Given the description of an element on the screen output the (x, y) to click on. 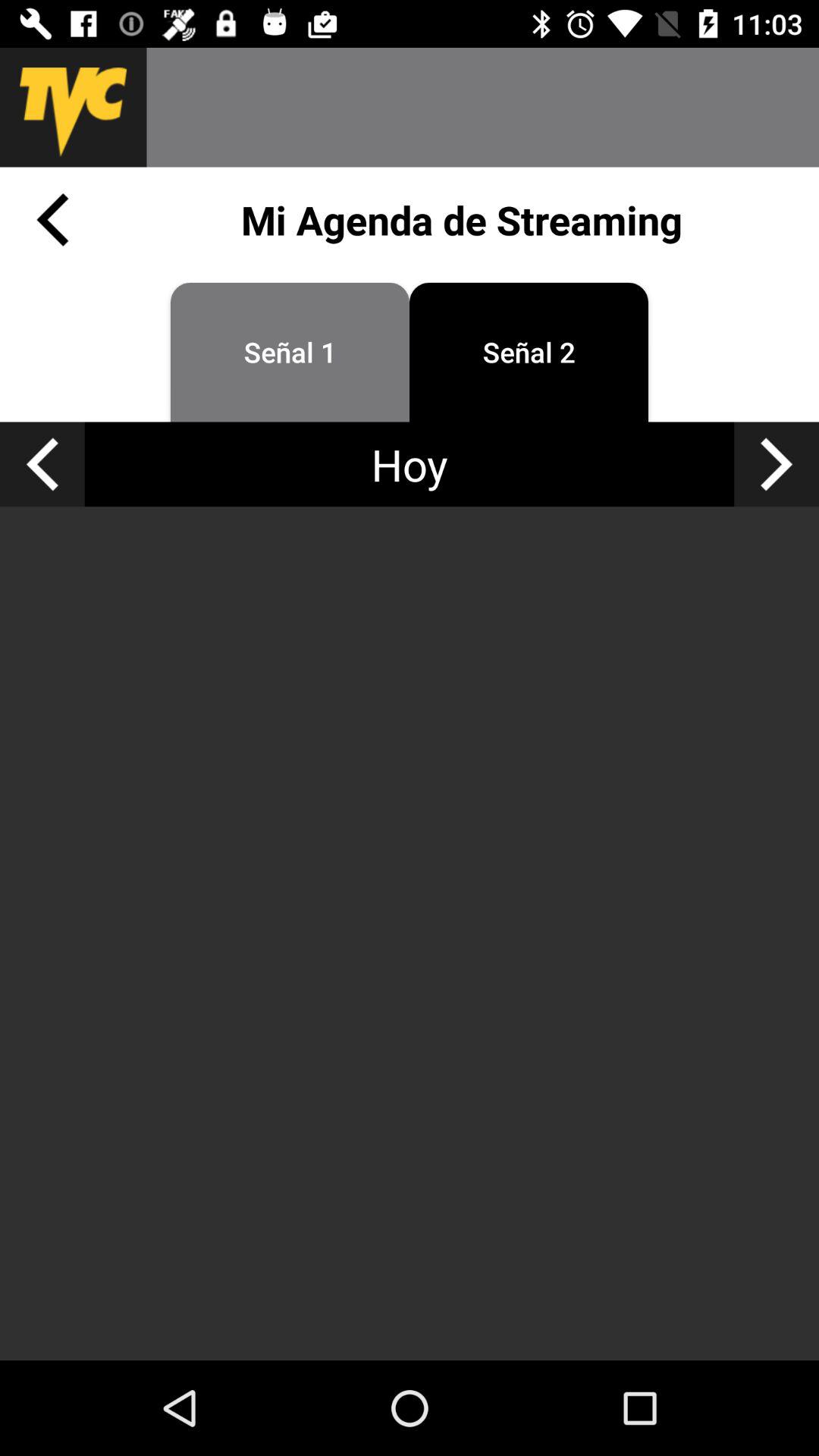
go back (52, 219)
